Given the description of an element on the screen output the (x, y) to click on. 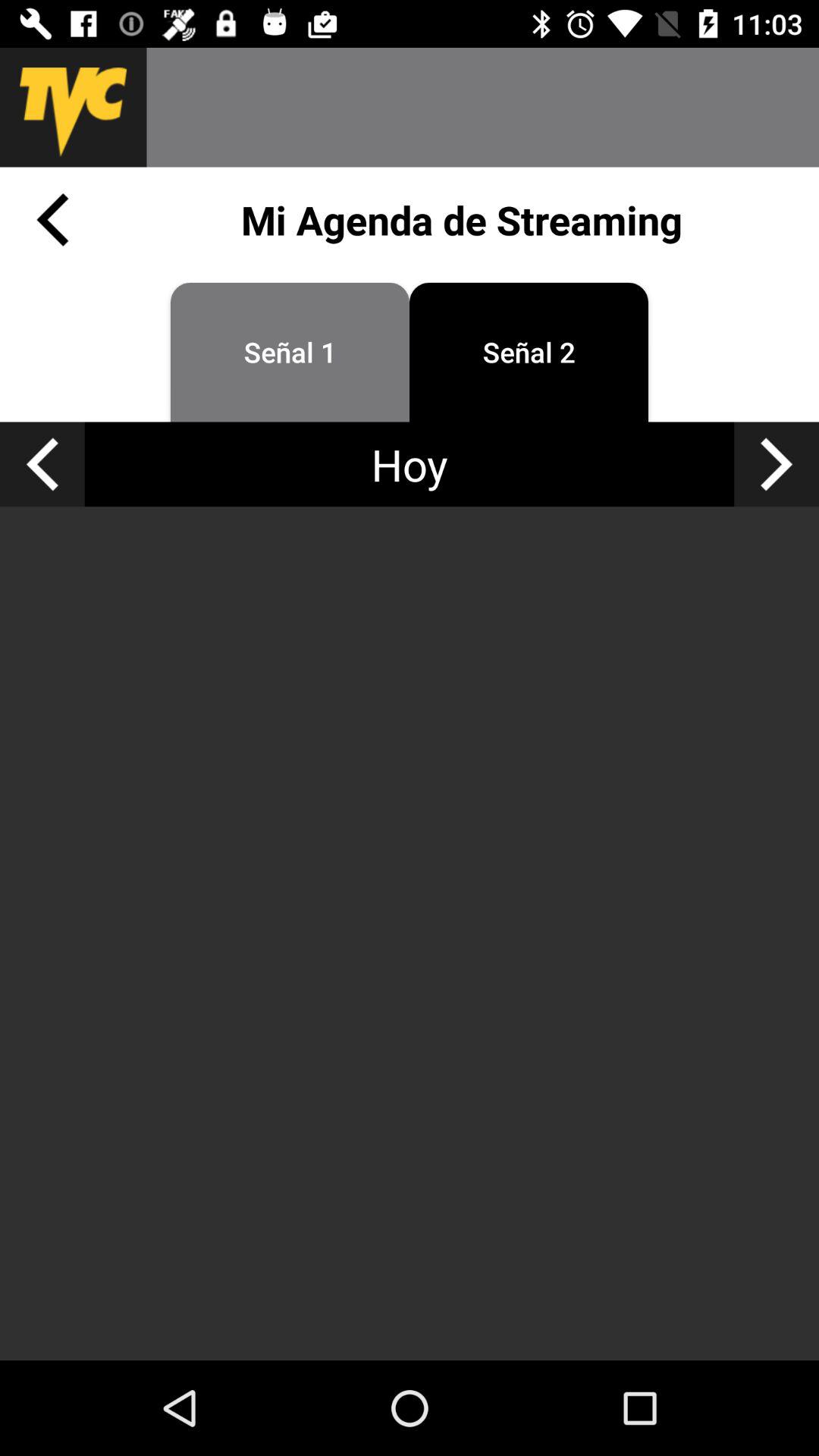
go back (52, 219)
